Given the description of an element on the screen output the (x, y) to click on. 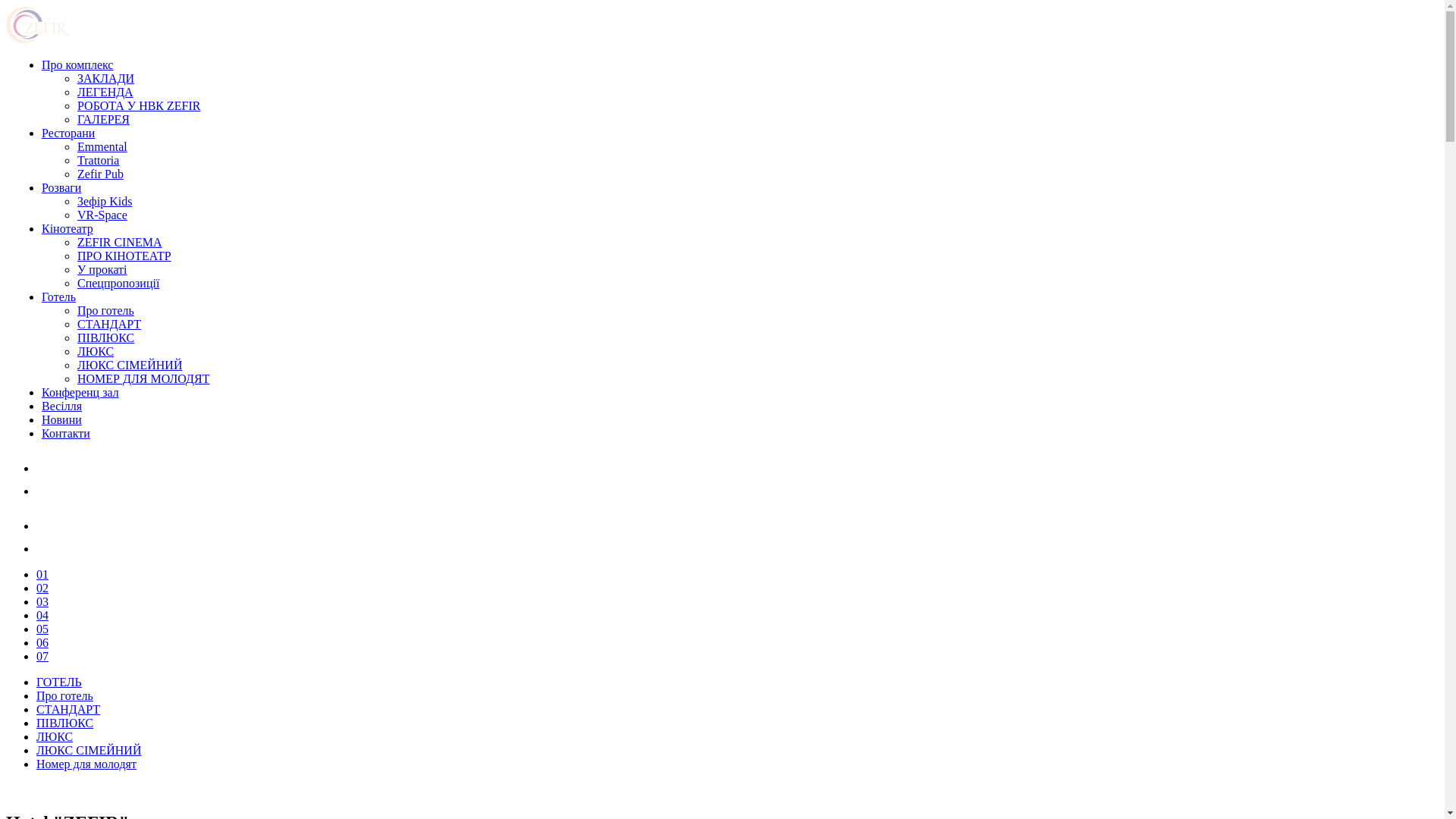
02 Element type: text (42, 587)
05 Element type: text (42, 628)
Trattoria Element type: text (98, 159)
07 Element type: text (42, 655)
ZEFIR CINEMA Element type: text (119, 241)
03 Element type: text (42, 601)
Emmental Element type: text (102, 146)
04 Element type: text (42, 614)
Zefir Pub Element type: text (100, 173)
06 Element type: text (42, 642)
VR-Space Element type: text (102, 214)
01 Element type: text (42, 573)
